Given the description of an element on the screen output the (x, y) to click on. 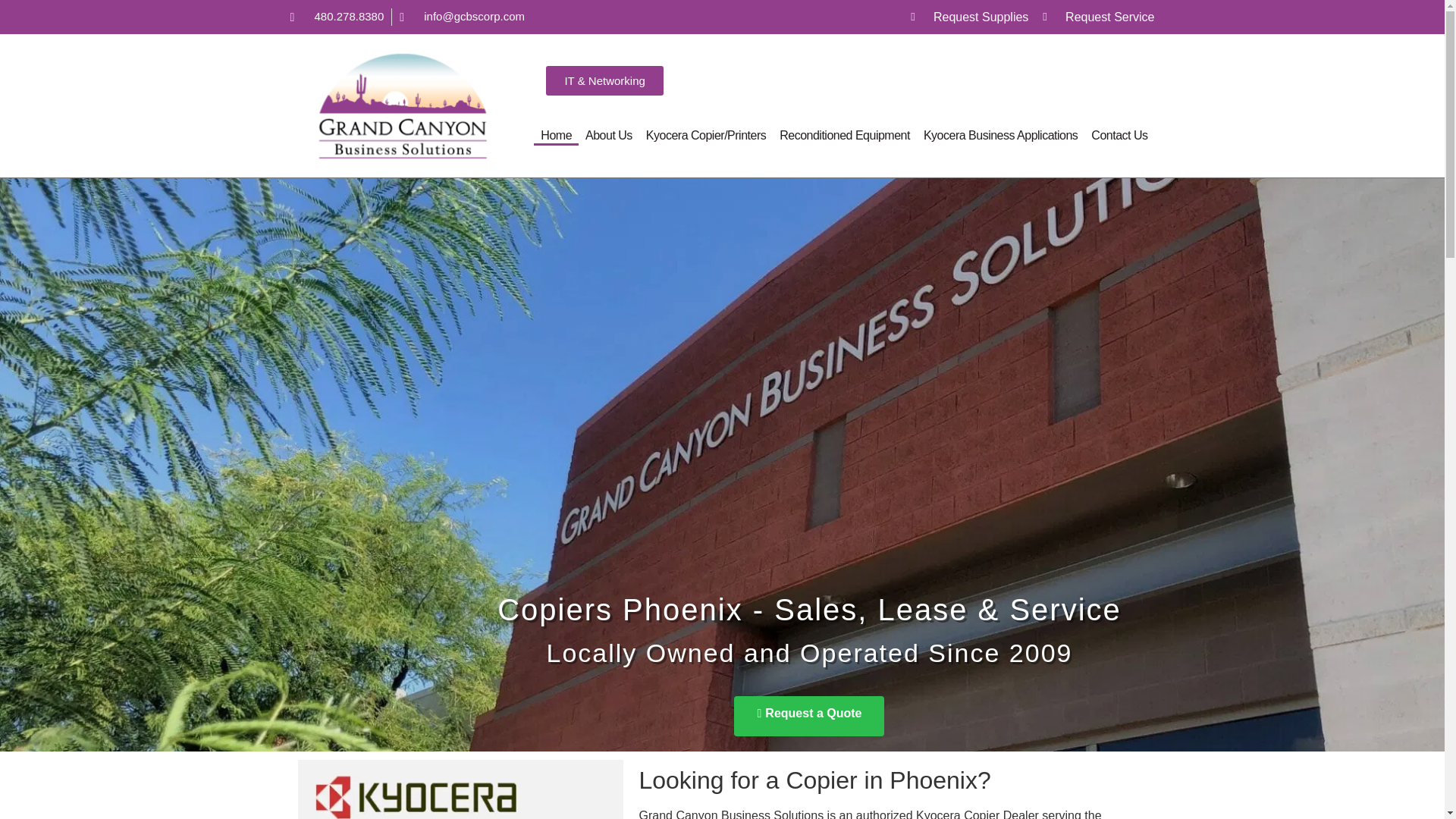
480.278.8380 (336, 16)
Home (556, 135)
Request Service (1098, 16)
Kyocera Business Applications (1000, 135)
Request Supplies (969, 16)
Contact Us (1119, 135)
Request a Quote (808, 694)
About Us (608, 135)
Reconditioned Equipment (845, 135)
